Given the description of an element on the screen output the (x, y) to click on. 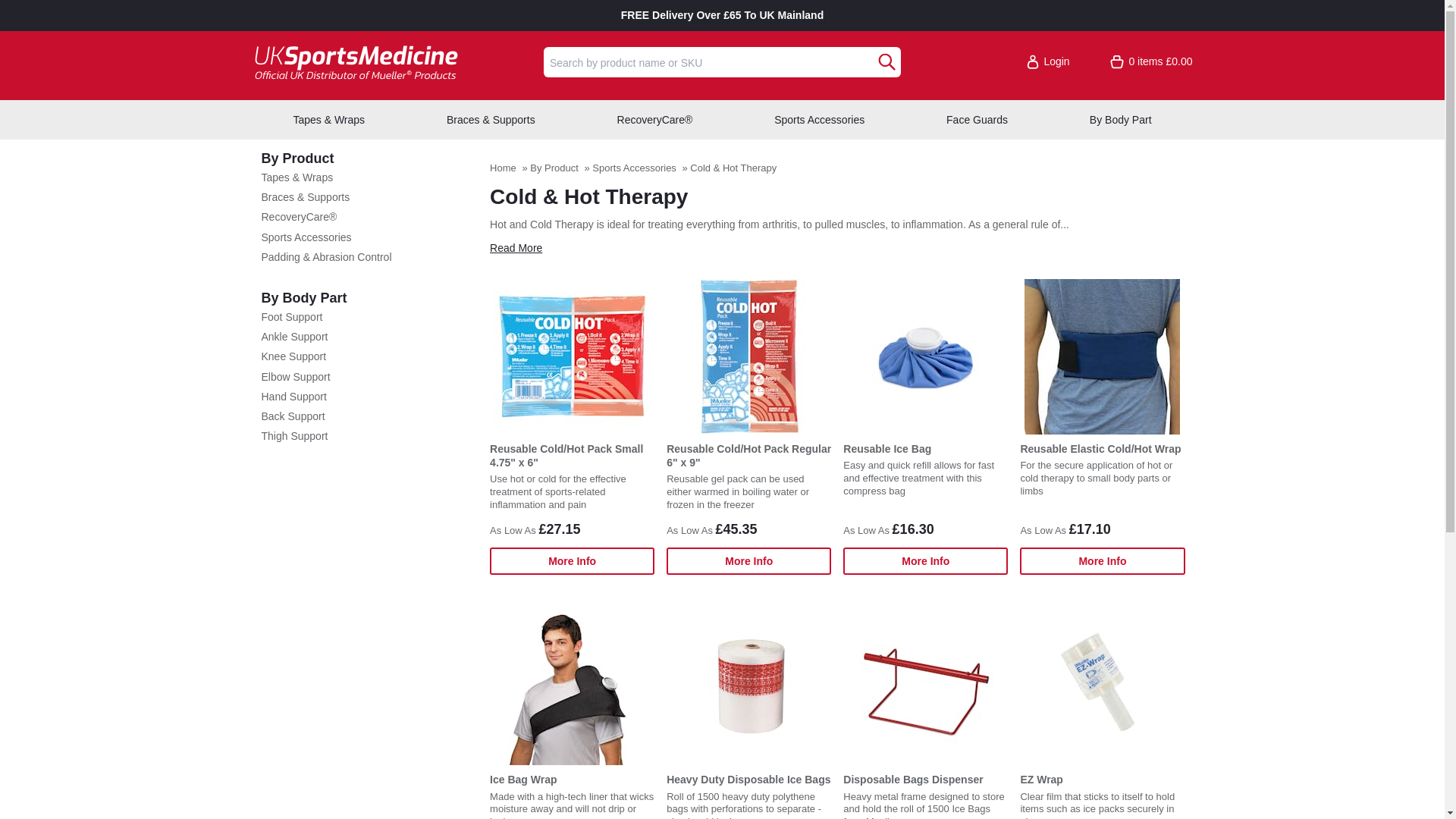
Elbow Support (367, 377)
Login (1047, 61)
By Body Part (367, 298)
Foot Support (367, 316)
Read More (515, 247)
Elbow Support (367, 377)
Hand Support (367, 396)
Ankle Support (367, 336)
Hand Support (367, 396)
Face Guards (976, 119)
